Given the description of an element on the screen output the (x, y) to click on. 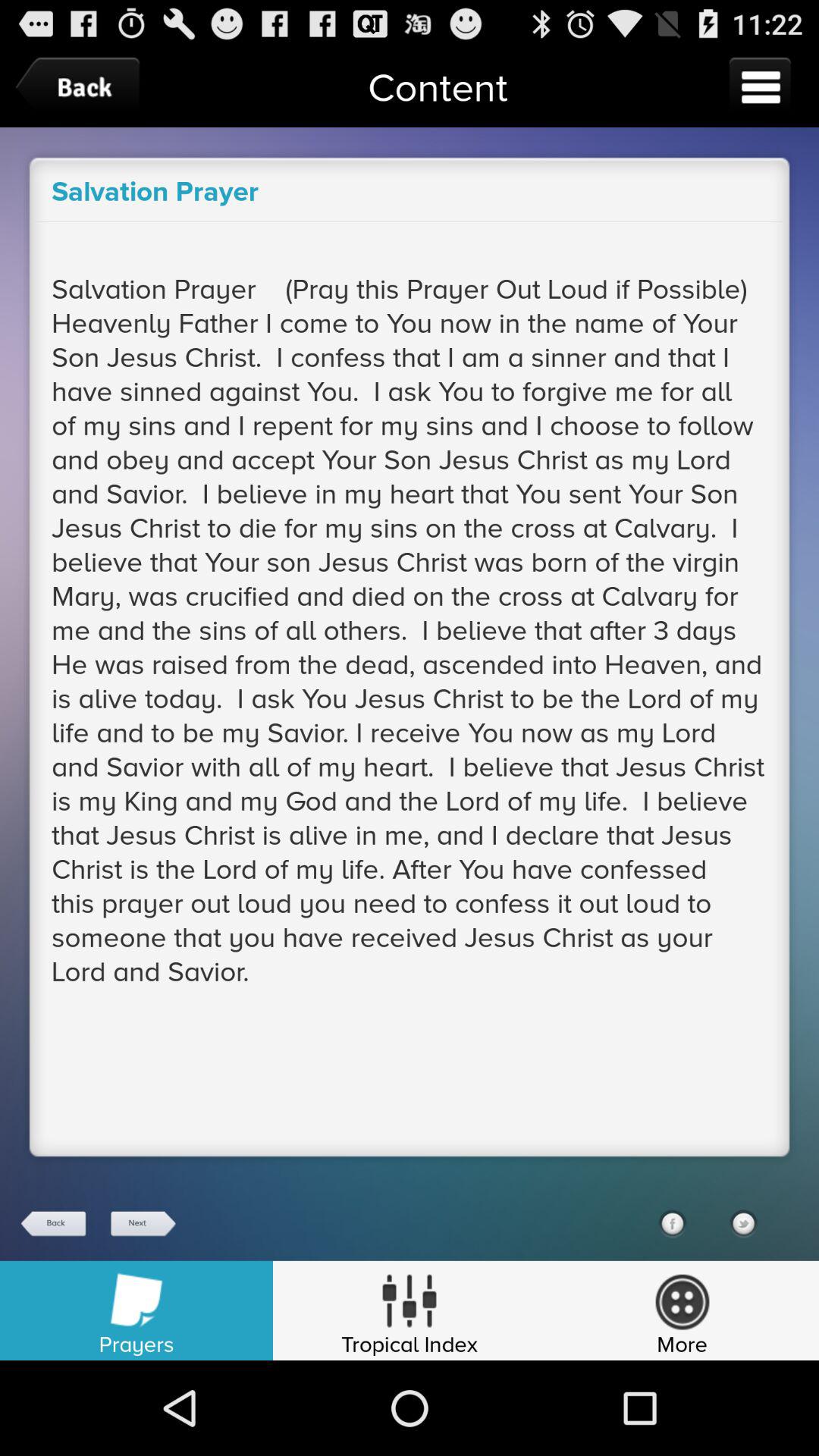
tap the item at the top right corner (760, 87)
